Given the description of an element on the screen output the (x, y) to click on. 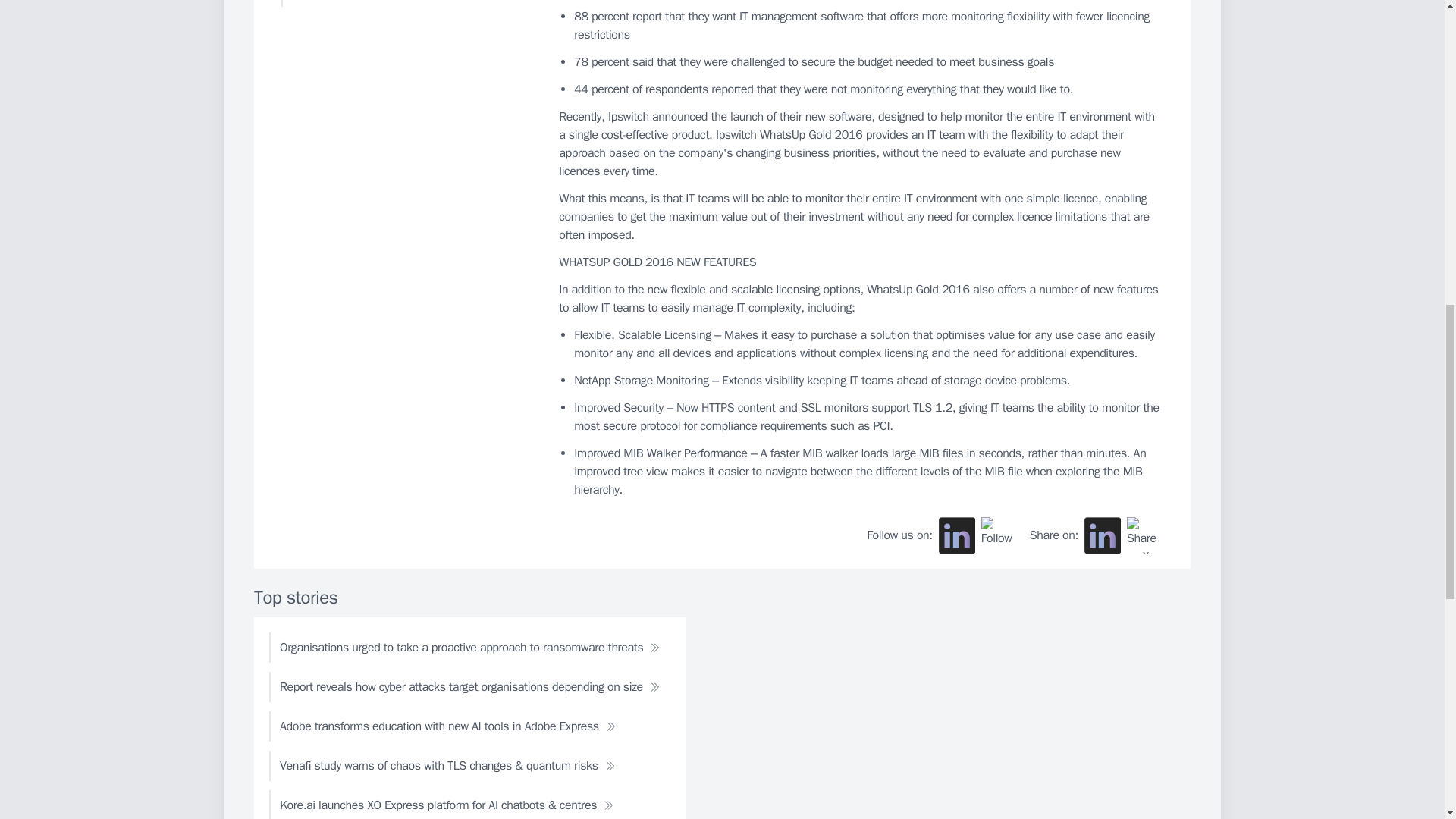
io.finnet launches io.vault, a solution for digital assets (406, 3)
